Given the description of an element on the screen output the (x, y) to click on. 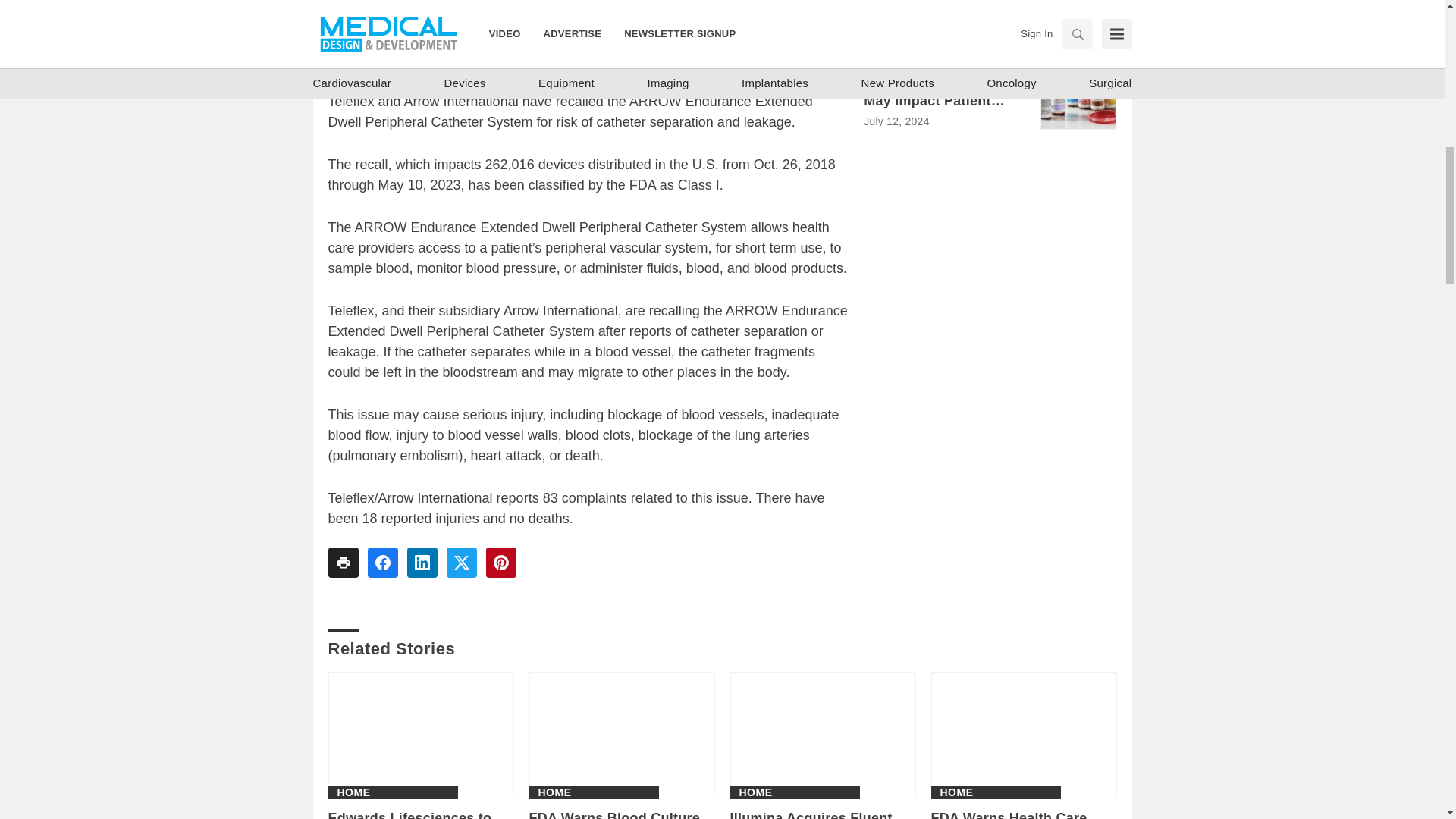
Share To facebook (381, 562)
Share To print (342, 562)
Share To twitter (460, 562)
Share To linkedin (421, 562)
Home (555, 792)
Home (352, 792)
Share To pinterest (499, 562)
Home (957, 792)
Home (754, 792)
